Given the description of an element on the screen output the (x, y) to click on. 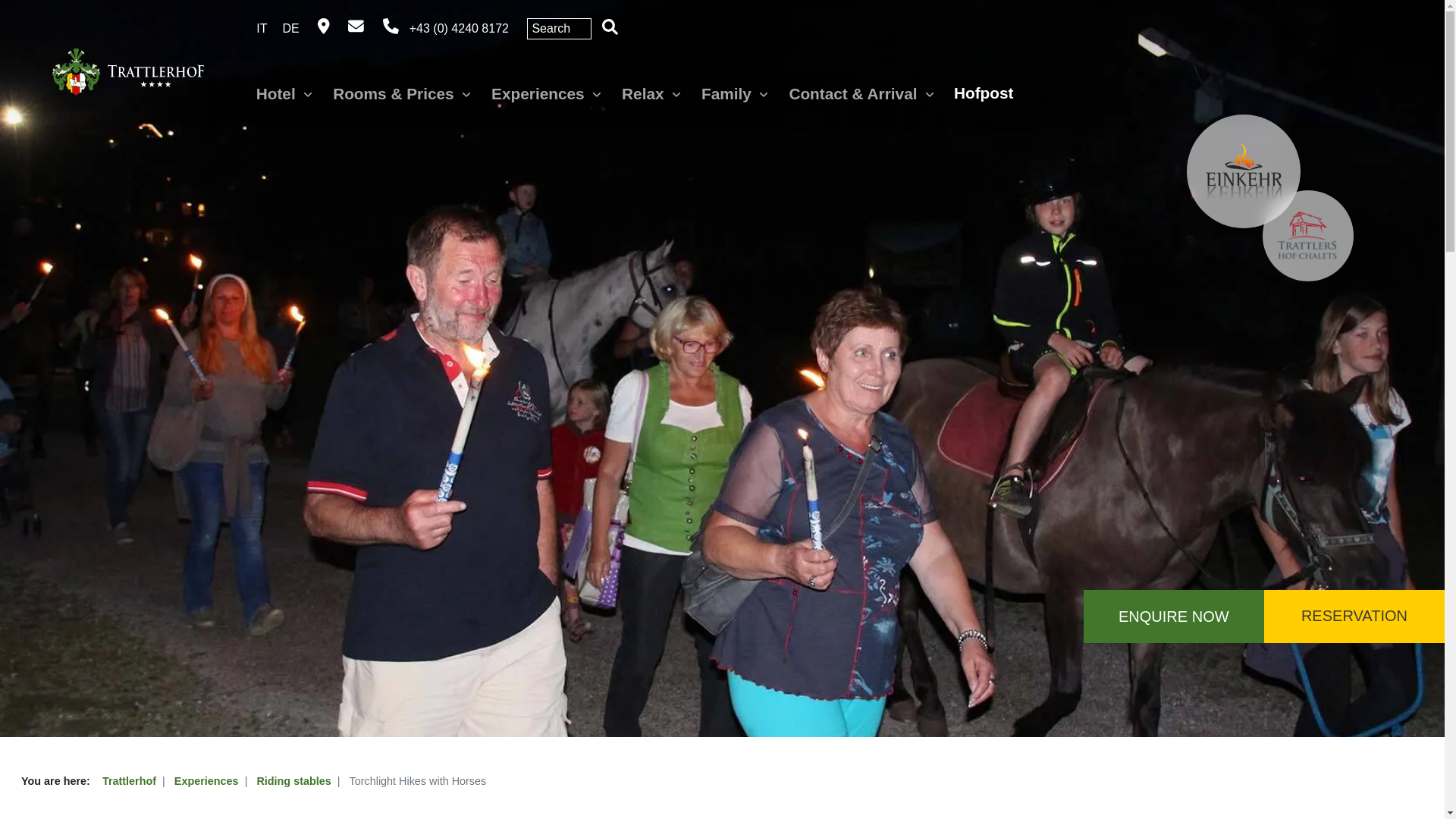
Hotel (285, 93)
Phone-number (446, 28)
DE (290, 28)
E-mail (356, 28)
Trattlers Hof-Chalets (1307, 235)
Trattlers Einkehr (1243, 171)
